Given the description of an element on the screen output the (x, y) to click on. 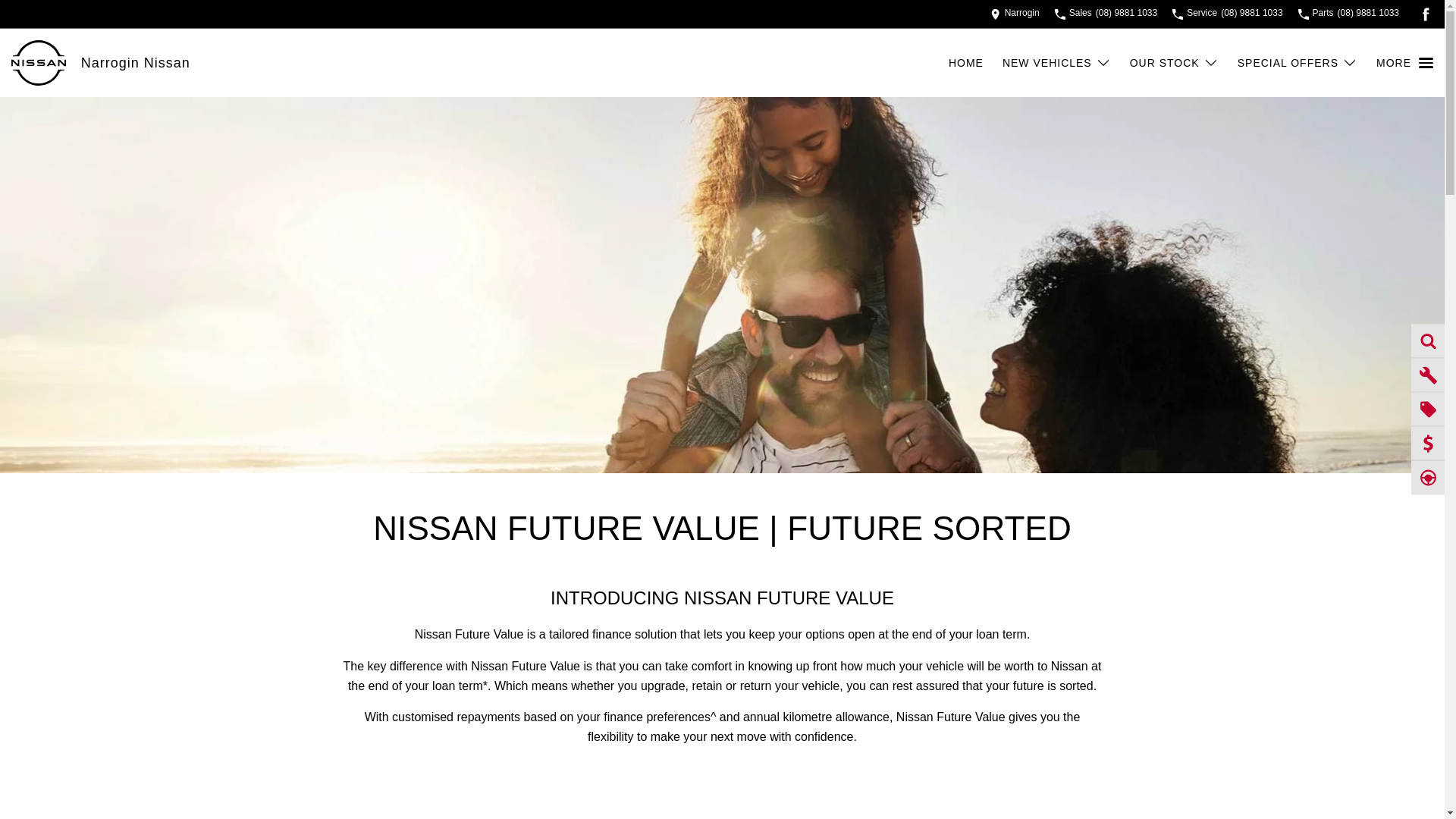
NEW VEHICLES (1056, 62)
Narrogin (1014, 13)
OUR STOCK (1173, 62)
SPECIAL OFFERS (1296, 62)
HOME (966, 62)
Narrogin Nissan (135, 62)
